Given the description of an element on the screen output the (x, y) to click on. 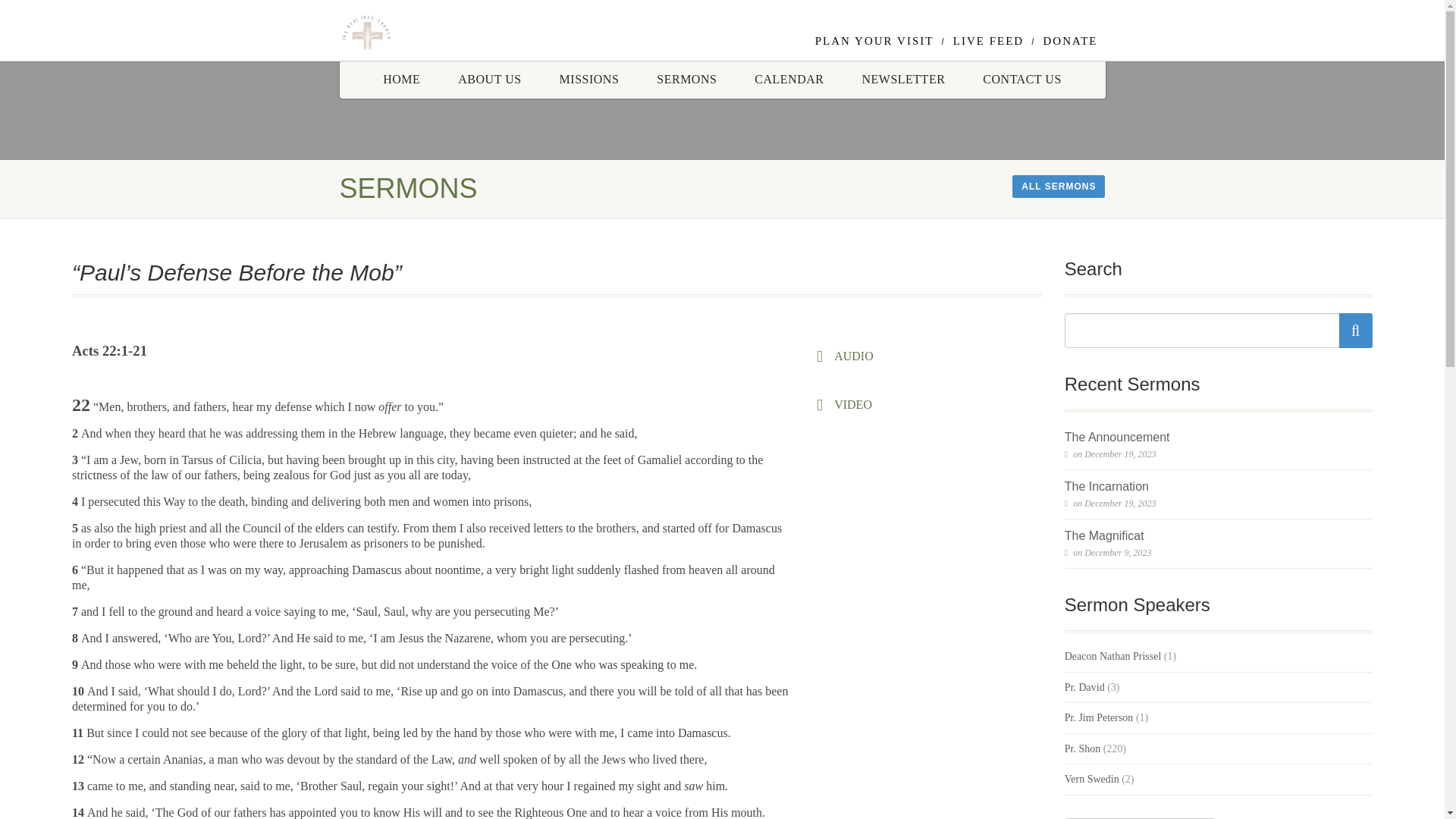
Pr. Jim Peterson (1099, 717)
VIDEO (849, 404)
ABOUT US (489, 79)
HOME (401, 79)
Pr. David (1084, 687)
LIVE FEED (988, 40)
Pr. Shon (1082, 749)
CONTACT US (1021, 79)
SERMONS (686, 79)
